Given the description of an element on the screen output the (x, y) to click on. 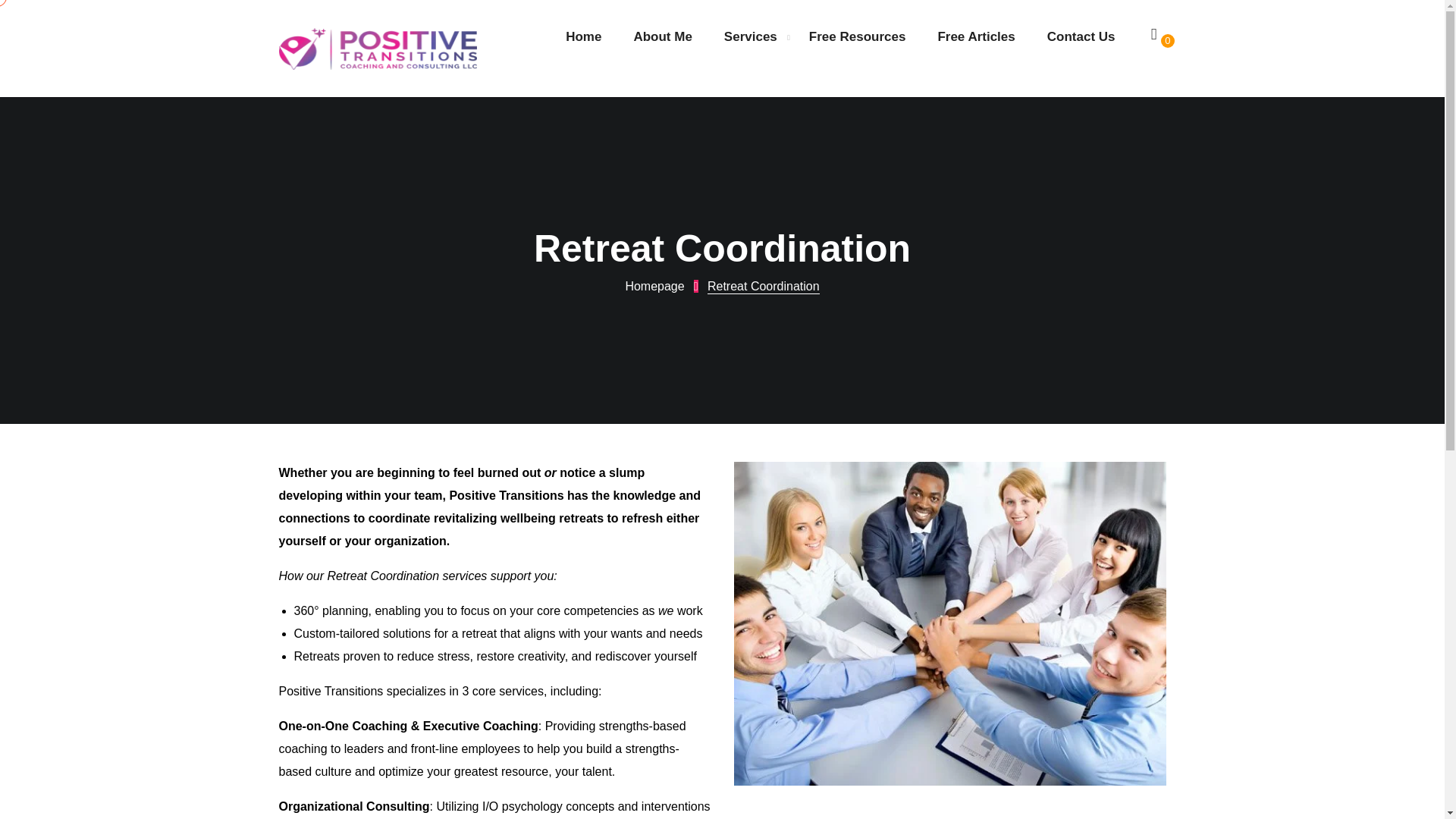
About Me (662, 37)
Services (750, 37)
Homepage (663, 286)
Free Resources (857, 37)
Contact Us (1080, 37)
Free Articles (975, 37)
